Given the description of an element on the screen output the (x, y) to click on. 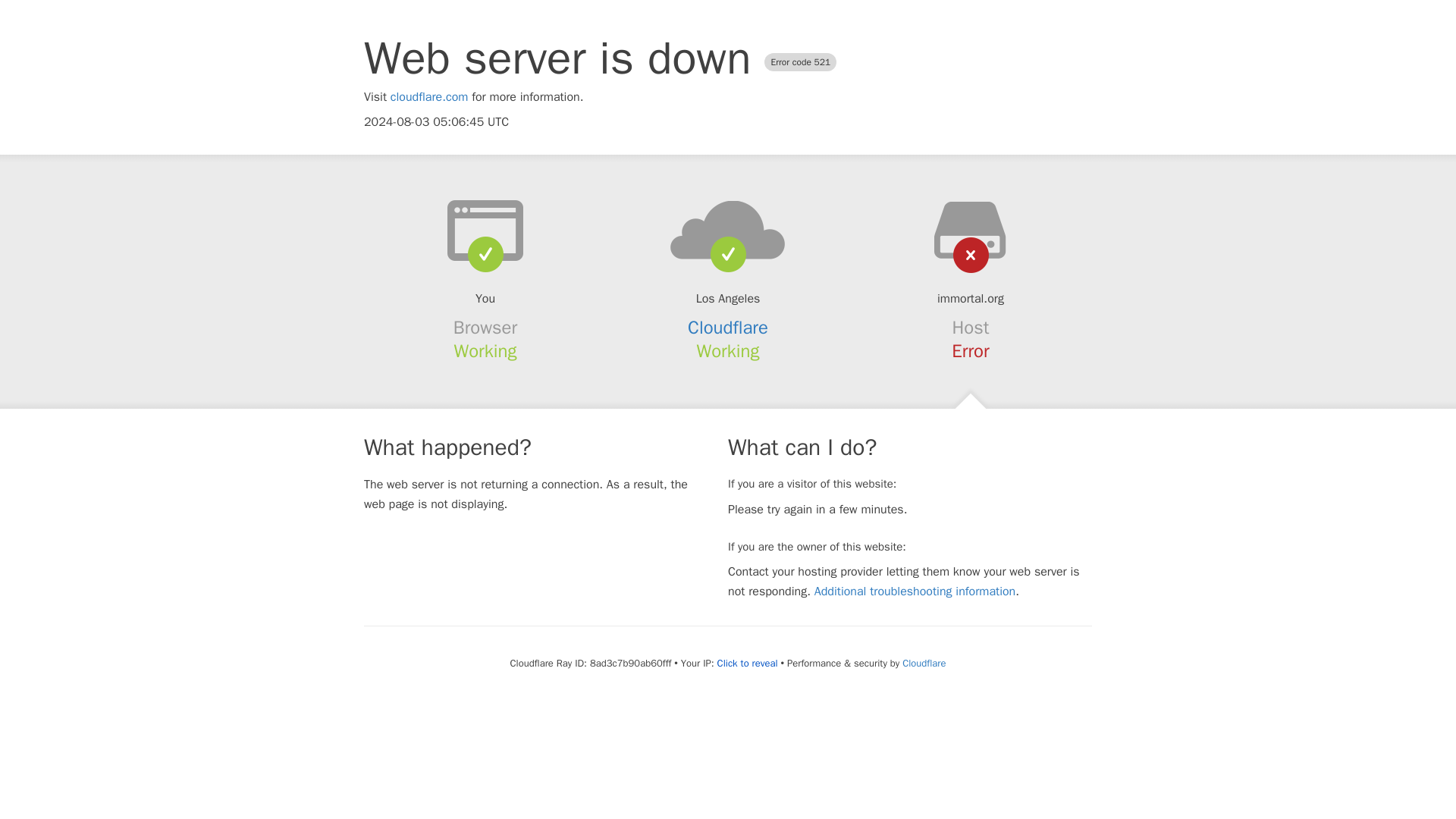
Click to reveal (747, 663)
Additional troubleshooting information (913, 590)
Cloudflare (727, 327)
cloudflare.com (429, 96)
Cloudflare (923, 662)
